Given the description of an element on the screen output the (x, y) to click on. 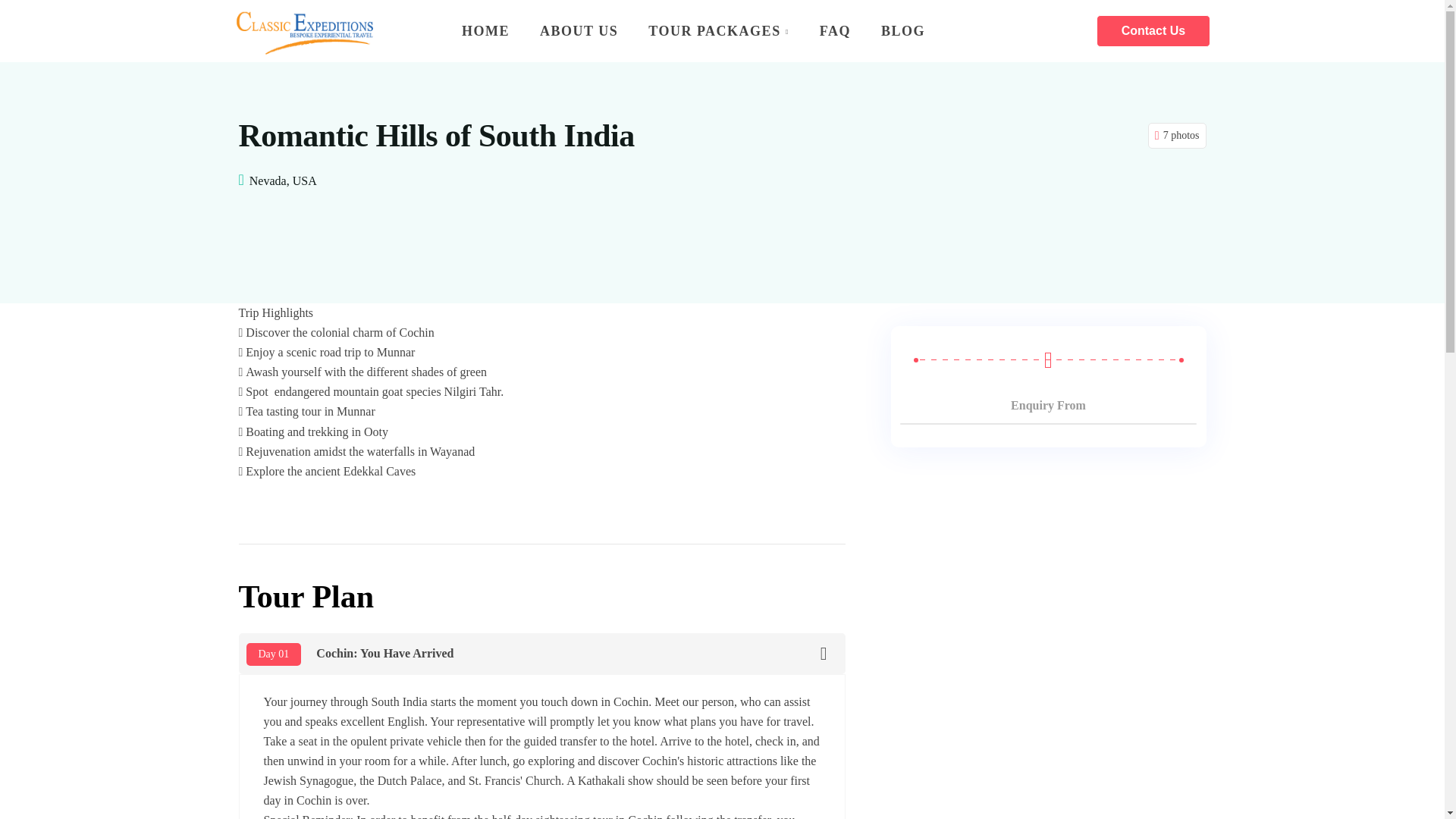
ABOUT US (578, 30)
Nevada, USA (282, 180)
HOME (485, 30)
Contact Us (1152, 30)
FAQ (835, 30)
TOUR PACKAGES (718, 30)
BLOG (895, 30)
